Given the description of an element on the screen output the (x, y) to click on. 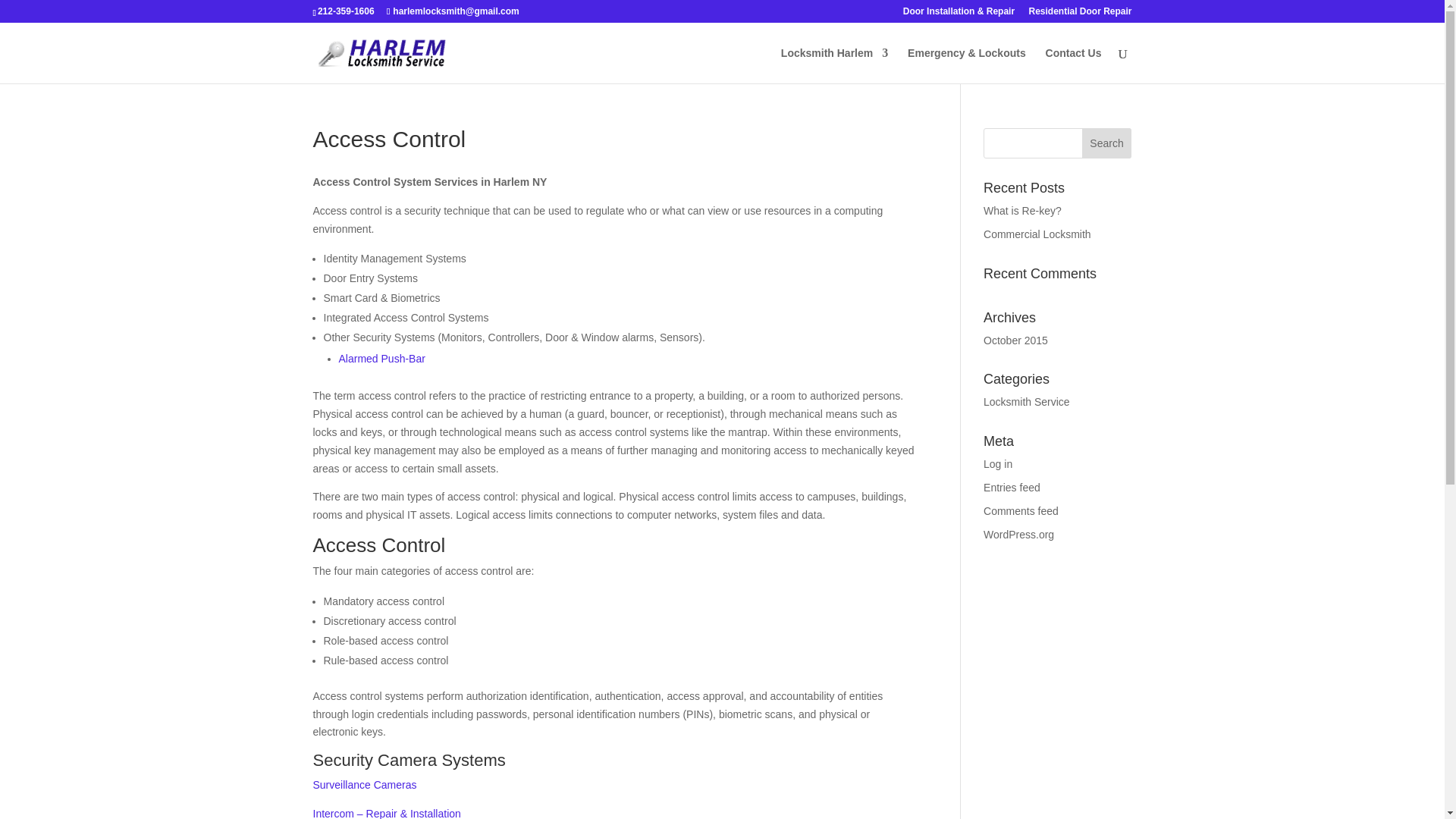
Locksmith Service (1027, 401)
What is Re-key? (1022, 210)
Commercial Locksmith (1037, 234)
Log in (997, 463)
Contact Us (1073, 65)
Entries feed (1012, 487)
October 2015 (1016, 340)
Search (1106, 142)
Surveillance Cameras (364, 784)
Locksmith Harlem (834, 65)
